Given the description of an element on the screen output the (x, y) to click on. 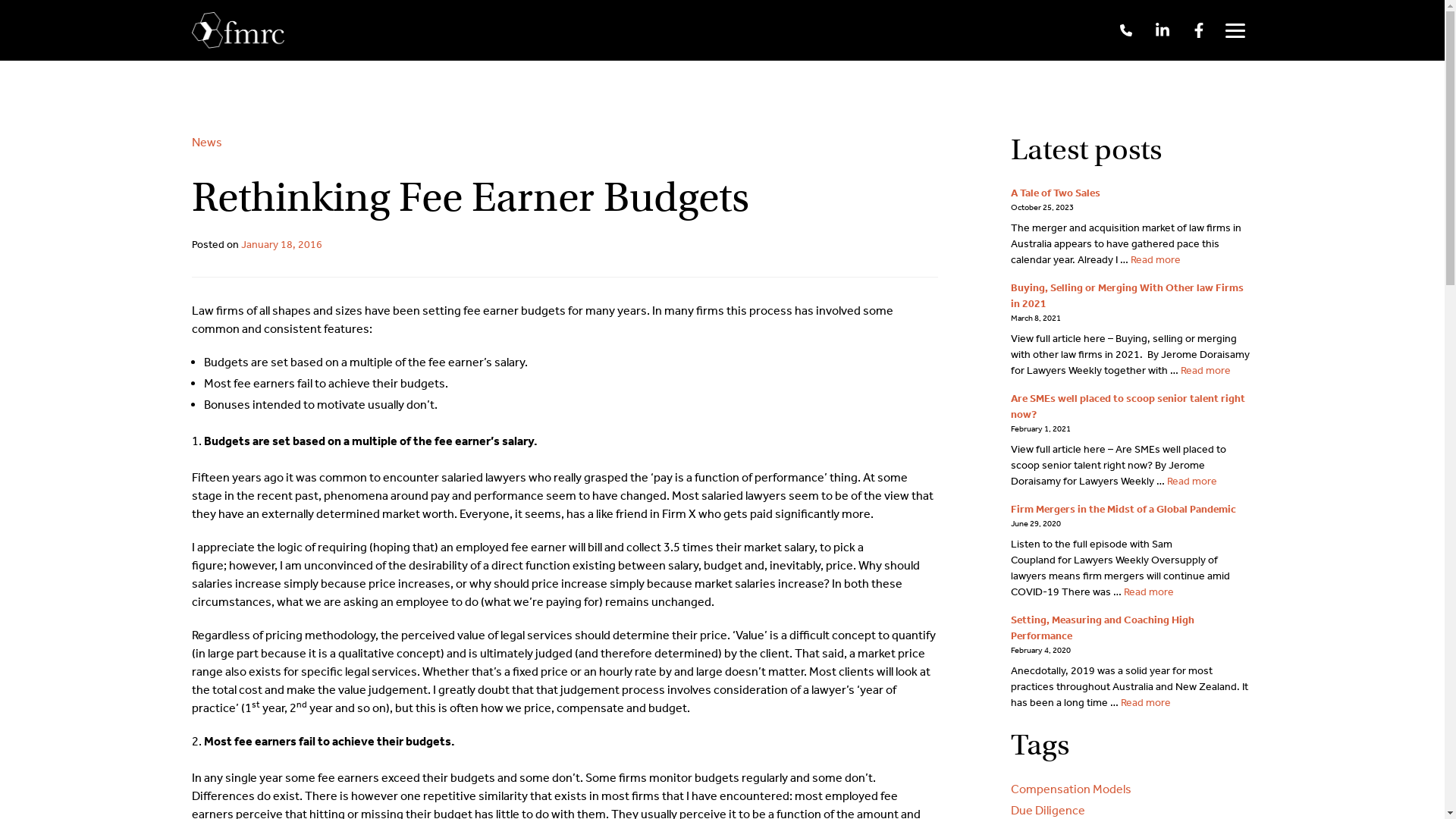
Firm Mergers in the Midst of a Global Pandemic Element type: text (1122, 508)
Menu Element type: text (1234, 30)
January 18, 2016 Element type: text (281, 244)
A Tale of Two Sales Element type: text (1054, 192)
Read more Element type: text (1204, 370)
Setting, Measuring and Coaching High Performance Element type: text (1101, 627)
Call Us +61 2 9262 3377 Element type: text (1125, 30)
Are SMEs well placed to scoop senior talent right now? Element type: text (1127, 406)
Read more Element type: text (1154, 259)
News Element type: text (206, 141)
Buying, Selling or Merging With Other law Firms in 2021 Element type: text (1126, 295)
Read more Element type: text (1145, 702)
Read more Element type: text (1191, 480)
Facebook Element type: text (1197, 30)
Read more Element type: text (1148, 591)
Linkedin Element type: text (1161, 30)
Compensation Models Element type: text (1131, 789)
